Given the description of an element on the screen output the (x, y) to click on. 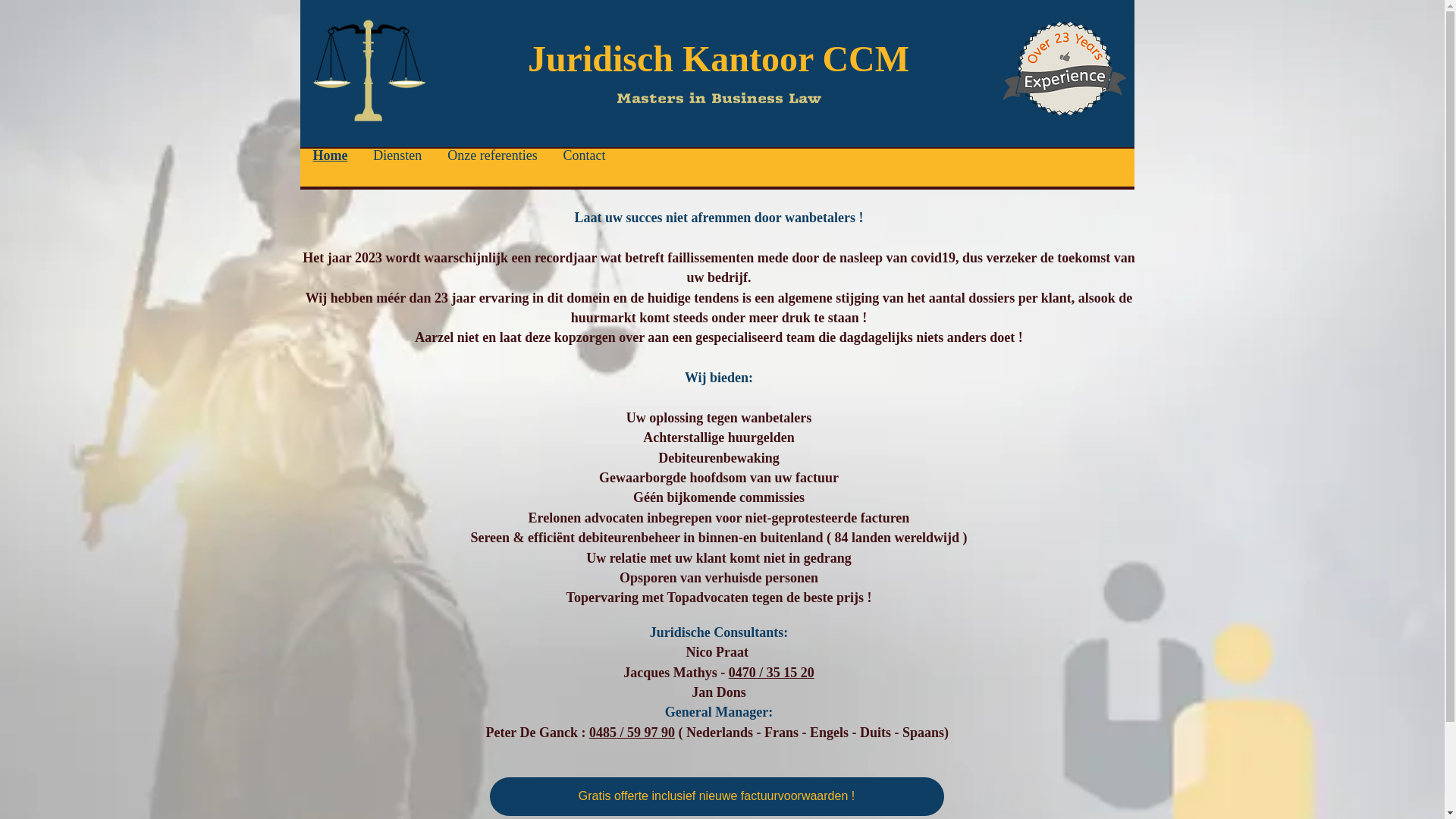
Contact Element type: text (584, 155)
0470 / 35 15 20 Element type: text (771, 672)
Gratis offerte inclusief nieuwe factuurvoorwaarden ! Element type: text (716, 796)
Diensten Element type: text (397, 155)
Home Element type: text (330, 155)
Onze referenties Element type: text (491, 155)
0485 / 59 97 90 Element type: text (631, 732)
